Given the description of an element on the screen output the (x, y) to click on. 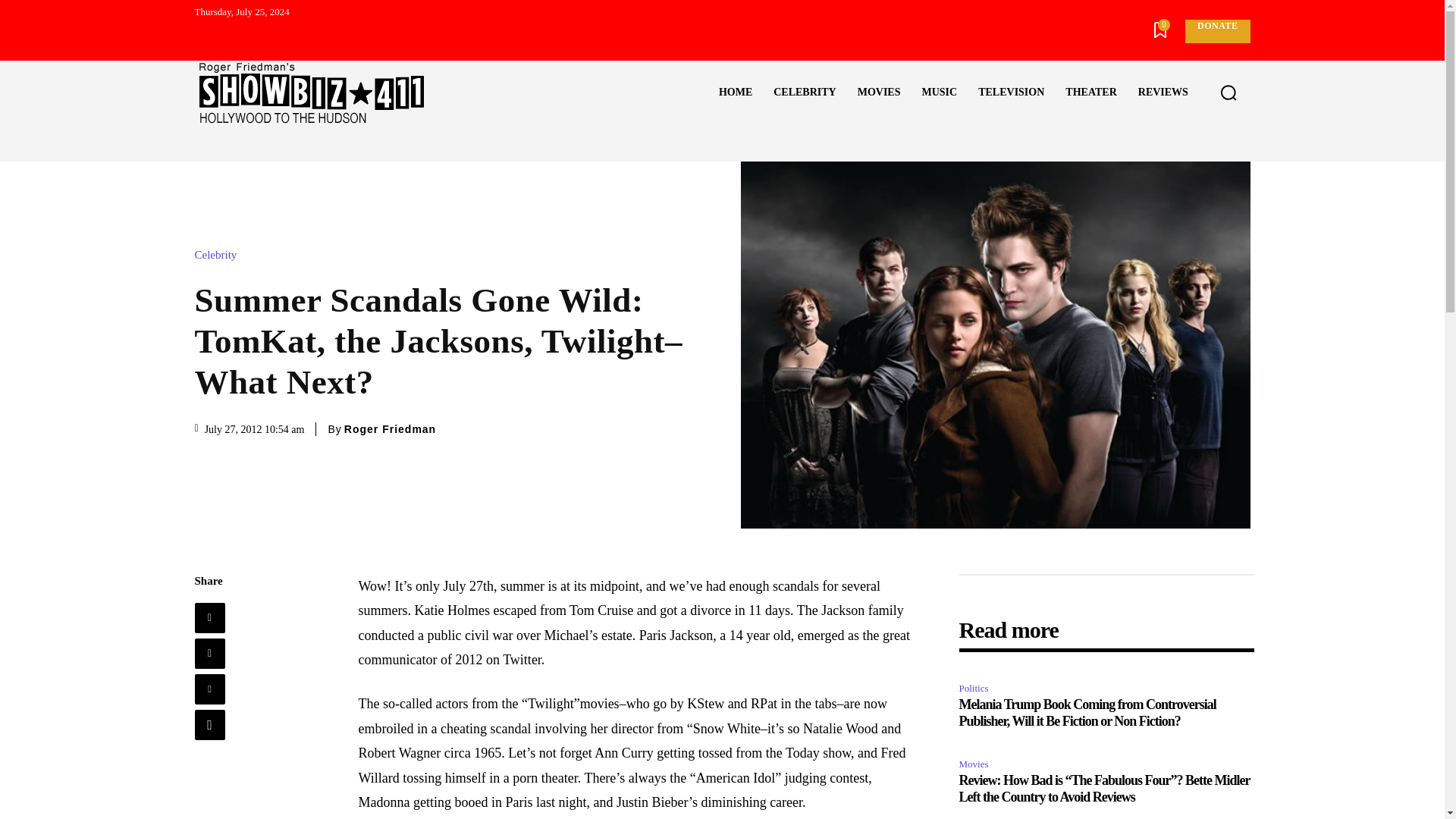
Twitter (208, 653)
Donate (1217, 31)
HOME (734, 92)
Pinterest (208, 689)
CELEBRITY (803, 92)
Facebook (208, 617)
THEATER (1090, 92)
TELEVISION (1011, 92)
MUSIC (939, 92)
MOVIES (879, 92)
Celebrity (218, 255)
WhatsApp (208, 725)
REVIEWS (1162, 92)
DONATE (1217, 31)
